Given the description of an element on the screen output the (x, y) to click on. 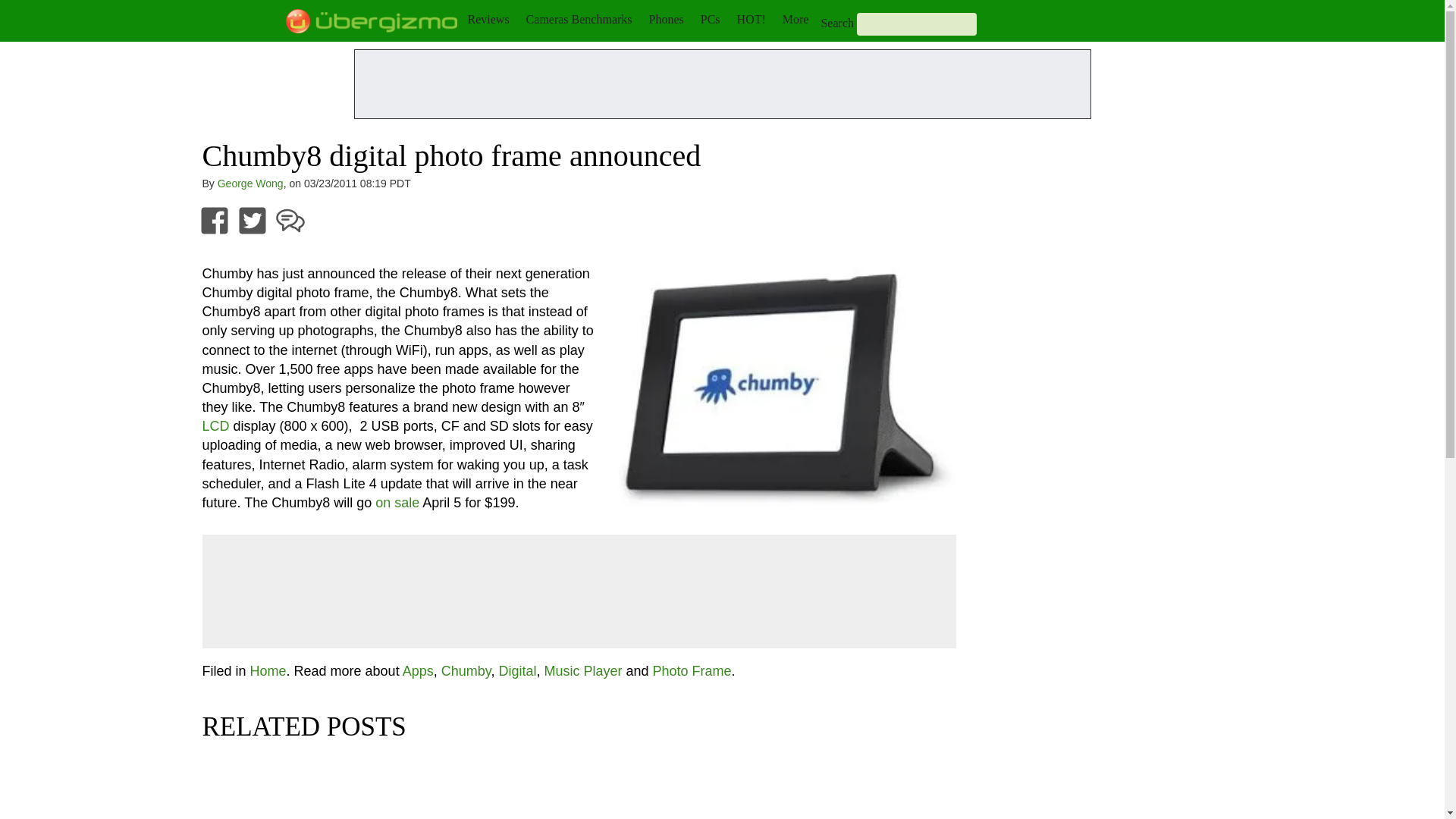
PCs (710, 19)
Cameras Benchmarks (578, 19)
Reviews (487, 19)
Chumby8 (781, 393)
Phones (666, 19)
